Given the description of an element on the screen output the (x, y) to click on. 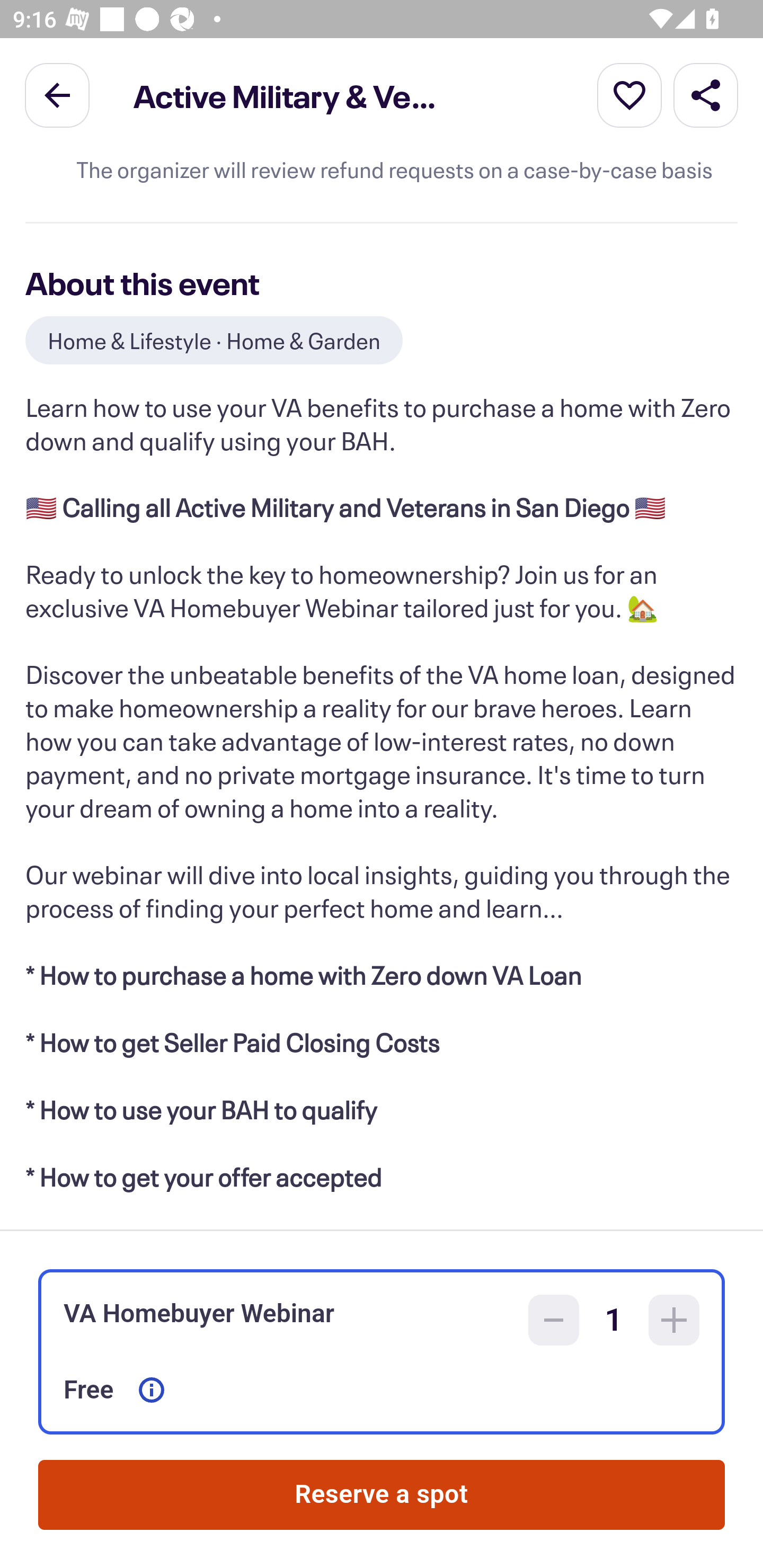
Back (57, 94)
More (629, 94)
Share (705, 94)
Decrease (553, 1320)
Increase (673, 1320)
Show more information (151, 1389)
Reserve a spot (381, 1494)
